Given the description of an element on the screen output the (x, y) to click on. 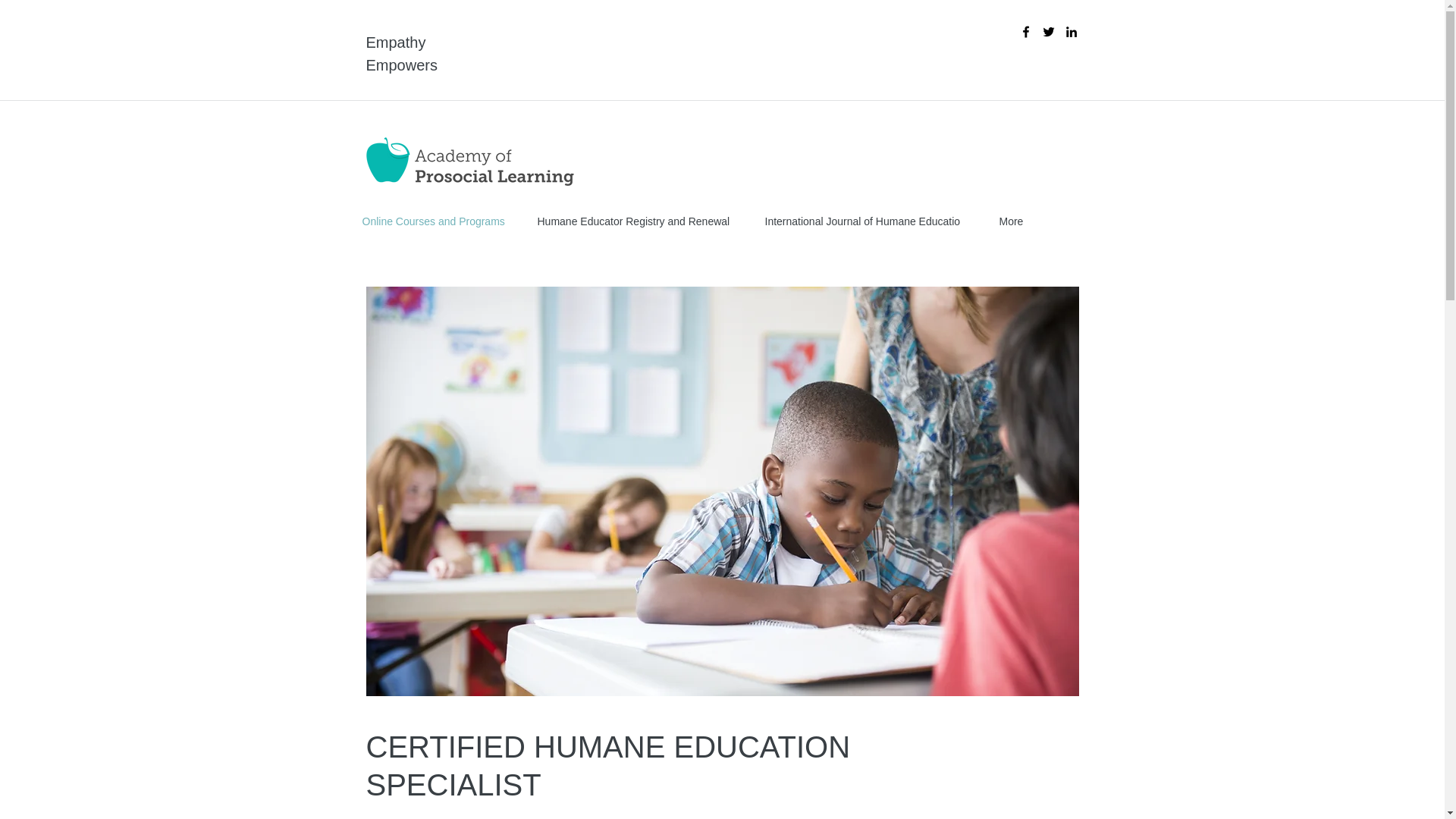
Humane Educator Registry and Renewal (639, 221)
Online Courses and Programs (437, 221)
International Journal of Humane Educatio (871, 221)
